Given the description of an element on the screen output the (x, y) to click on. 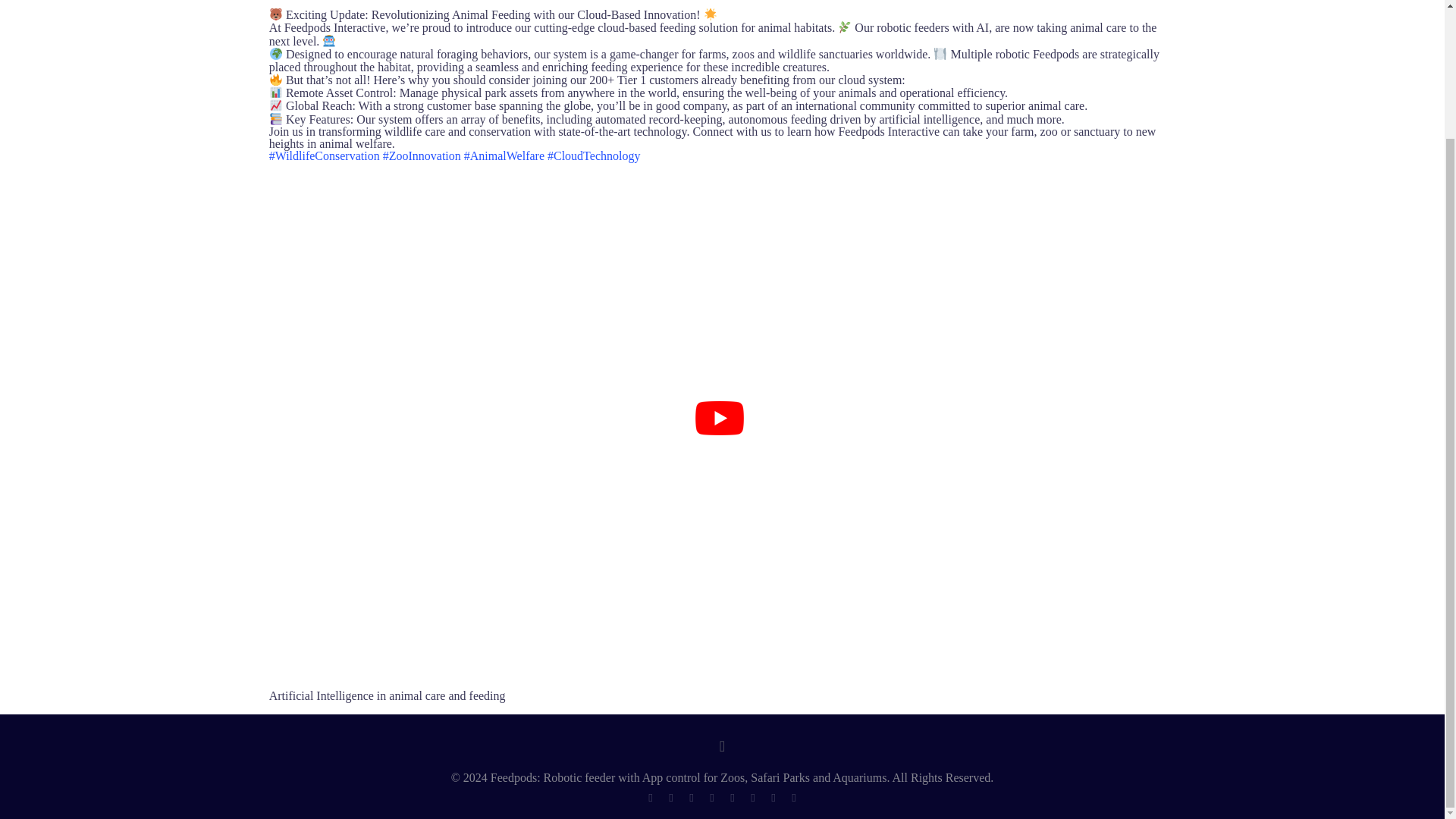
WhatsApp (650, 797)
Vimeo (711, 797)
Flickr (752, 797)
Twitter (690, 797)
YouTube (731, 797)
Facebook (670, 797)
Instagram (794, 797)
LinkedIn (772, 797)
